Given the description of an element on the screen output the (x, y) to click on. 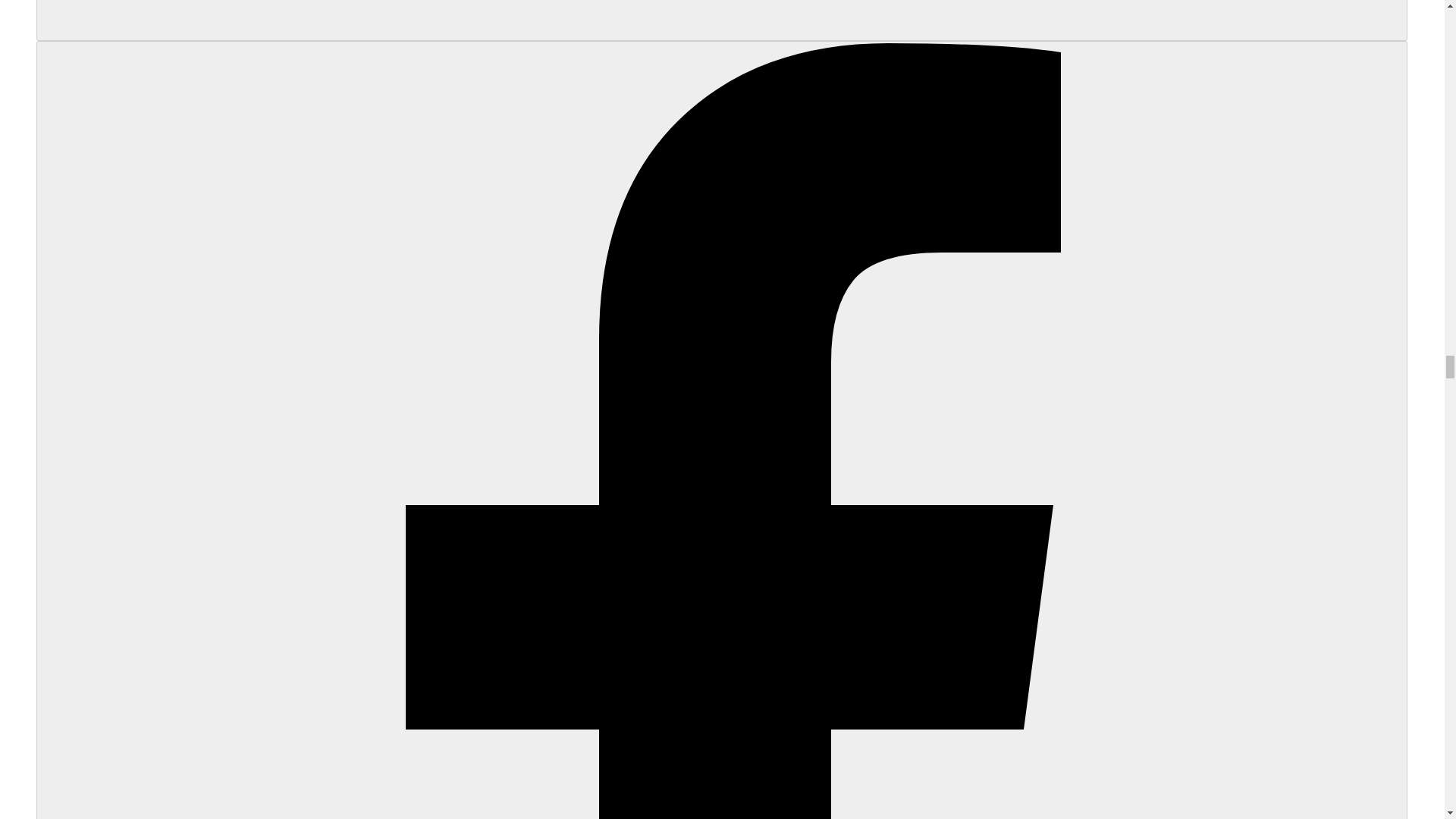
Share on Pinterest (721, 20)
